Given the description of an element on the screen output the (x, y) to click on. 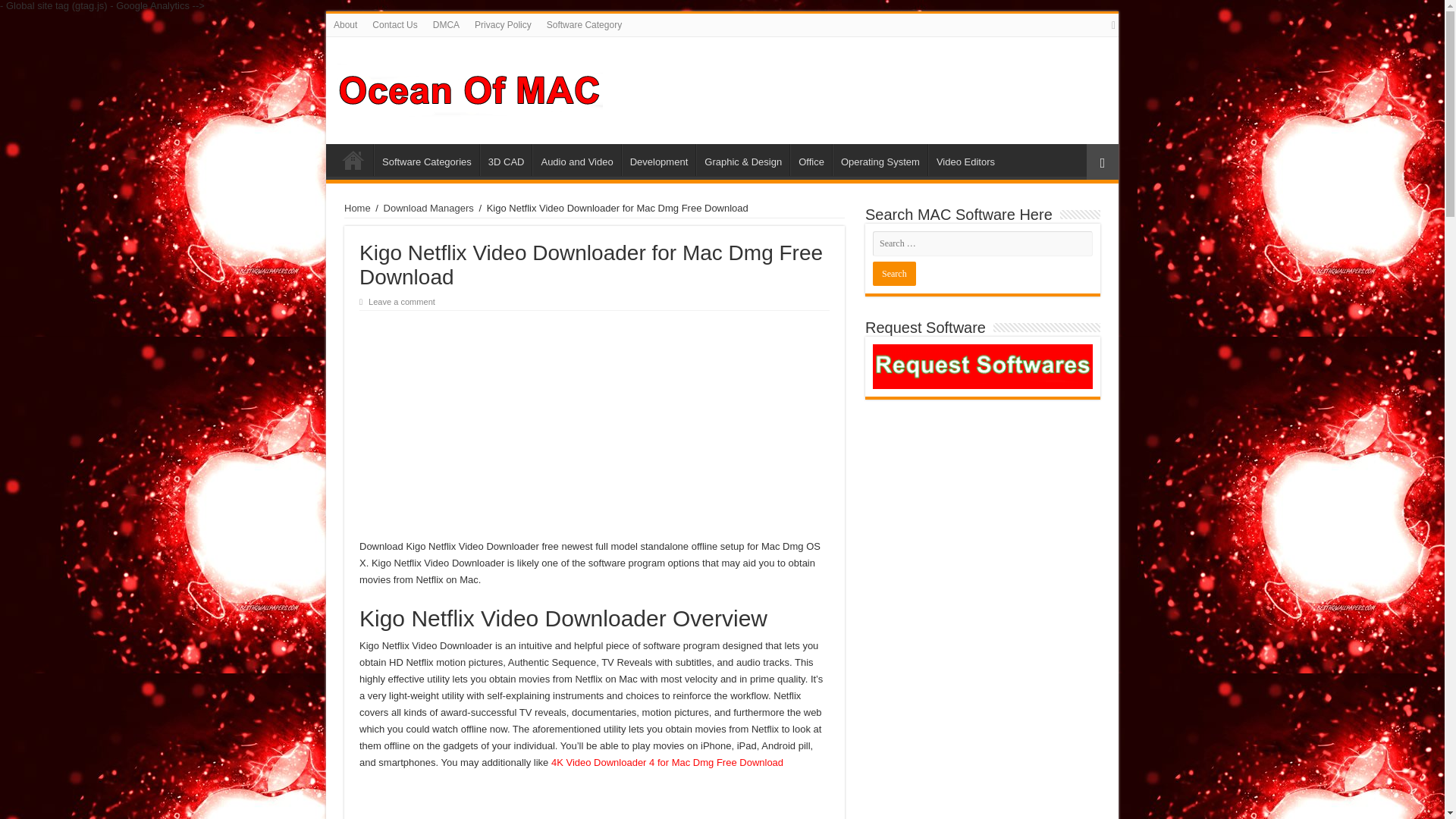
Download Managers (429, 207)
Ocean Of Mac (469, 87)
Operating System (879, 160)
Office (810, 160)
About (345, 24)
DMCA (446, 24)
Contact Us (395, 24)
Home (352, 160)
Leave a comment (401, 301)
Search (893, 273)
Home (357, 207)
Video Editors (965, 160)
Advertisement (594, 424)
Software Categories (426, 160)
Privacy Policy (502, 24)
